Given the description of an element on the screen output the (x, y) to click on. 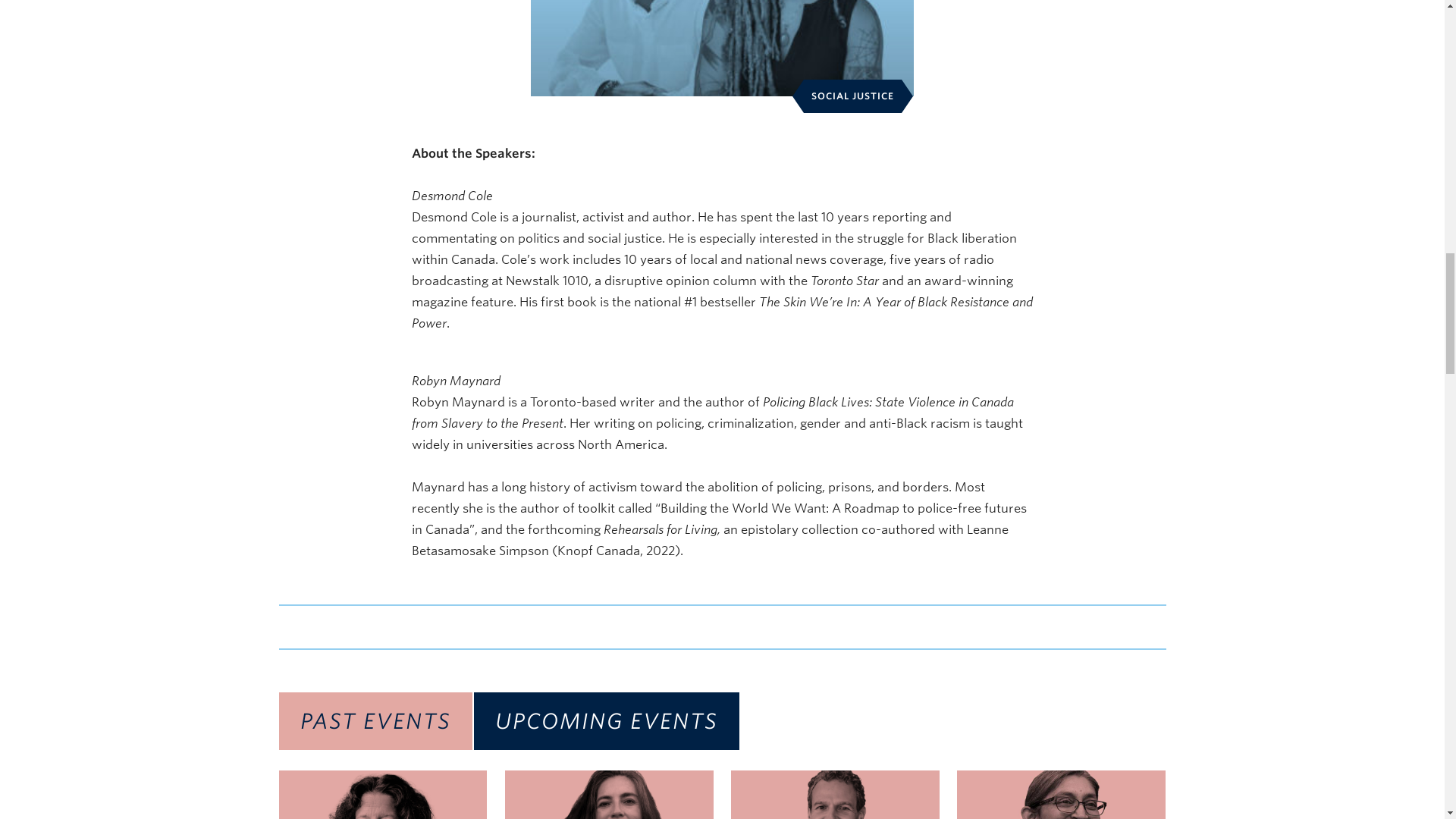
UPCOMING EVENTS (605, 721)
SOCIAL THEORY (1061, 794)
PAST EVENTS (375, 721)
GEOPOLITICS (834, 794)
SOCIAL COMMENTARY (383, 794)
MEDIA (609, 794)
